Given the description of an element on the screen output the (x, y) to click on. 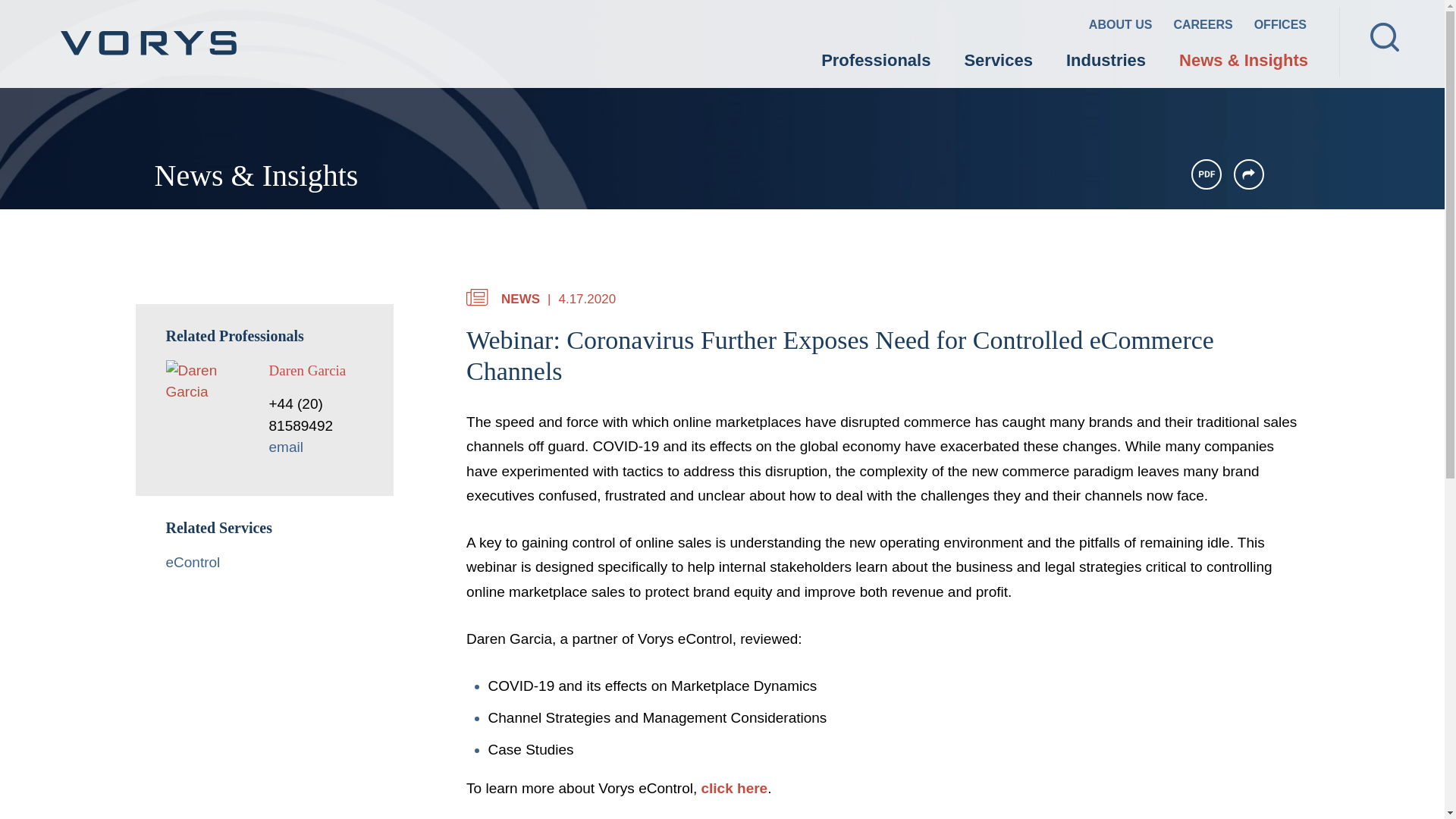
OFFICES (1280, 26)
Share (1248, 173)
Menu (674, 20)
Professionals (876, 62)
Search (1384, 36)
Main Menu (674, 20)
ABOUT US (1120, 26)
CAREERS (1202, 26)
Services (998, 62)
Main Content (667, 20)
